Given the description of an element on the screen output the (x, y) to click on. 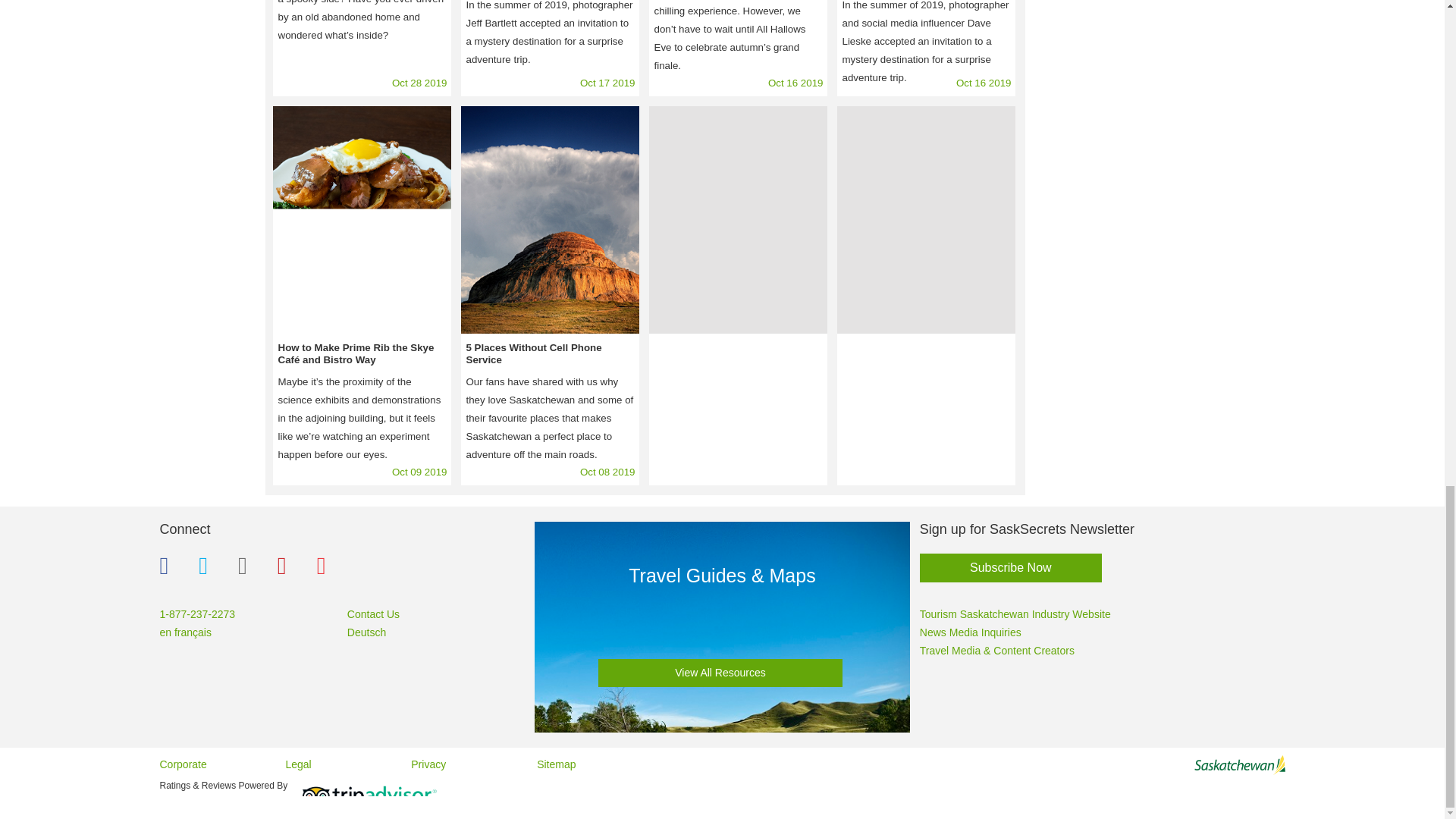
News Media Inquiries (971, 632)
Legal (298, 764)
Contact Us (372, 613)
Pintrest (289, 565)
Twitter (210, 565)
Instagram (250, 565)
Corporate (182, 764)
5 Places Without Cell Phone Service (549, 219)
Deutsch (366, 632)
Tourism Saskatchewan Industry Website (1015, 613)
